Given the description of an element on the screen output the (x, y) to click on. 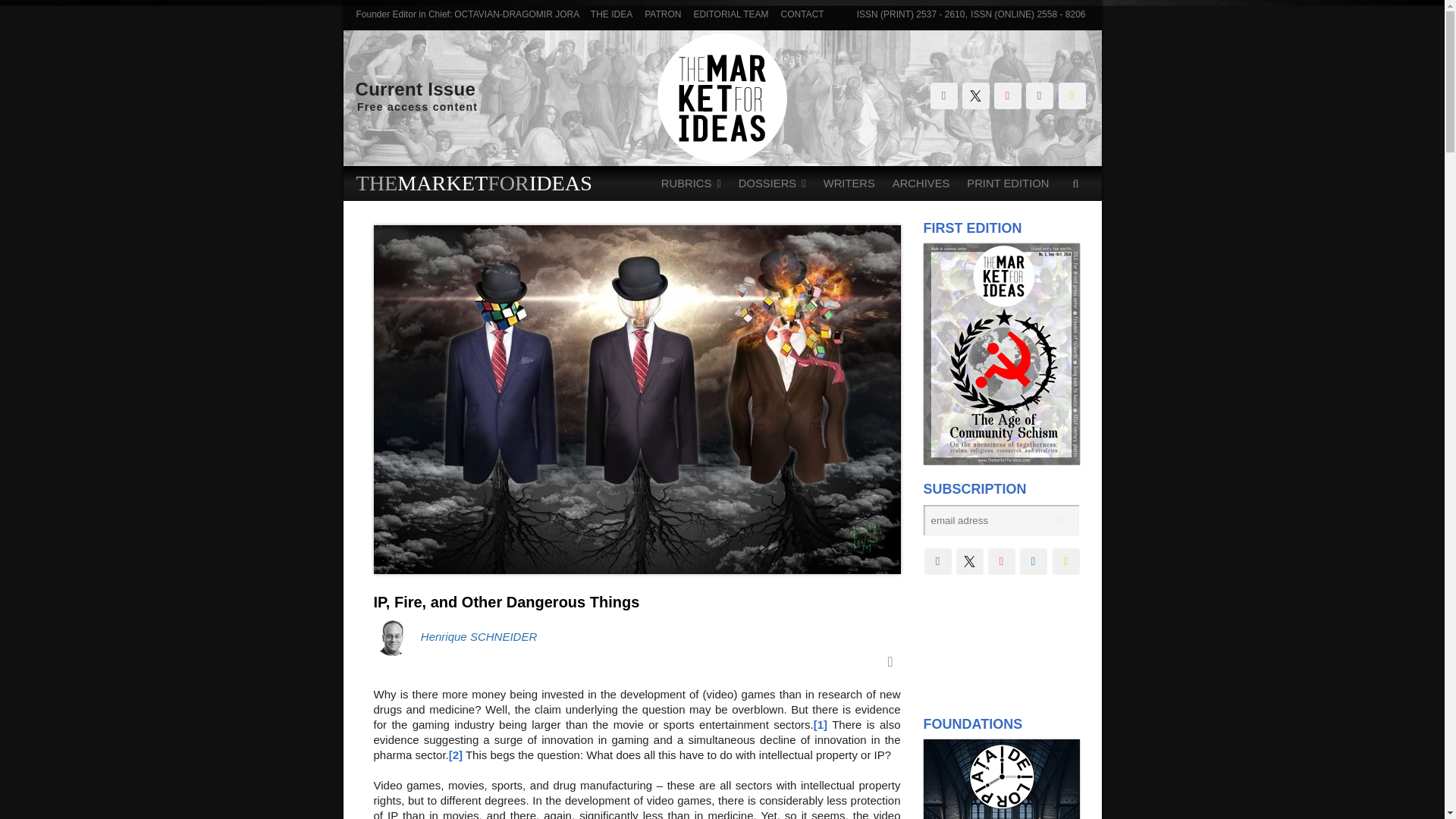
WRITERS (849, 183)
Follow us on Facebook (936, 560)
Follow us on LinkedIn (1038, 95)
OCTAVIAN-DRAGOMIR JORA (515, 13)
EDITORIAL TEAM (726, 13)
Follow us on Twitter (974, 95)
Comments (889, 663)
DOSSIERS (772, 183)
RSS (1072, 95)
THEMARKETFORIDEAS (474, 182)
Follow us on Facebook (943, 95)
THE IDEA (611, 13)
PRINT EDITION (1007, 183)
